Given the description of an element on the screen output the (x, y) to click on. 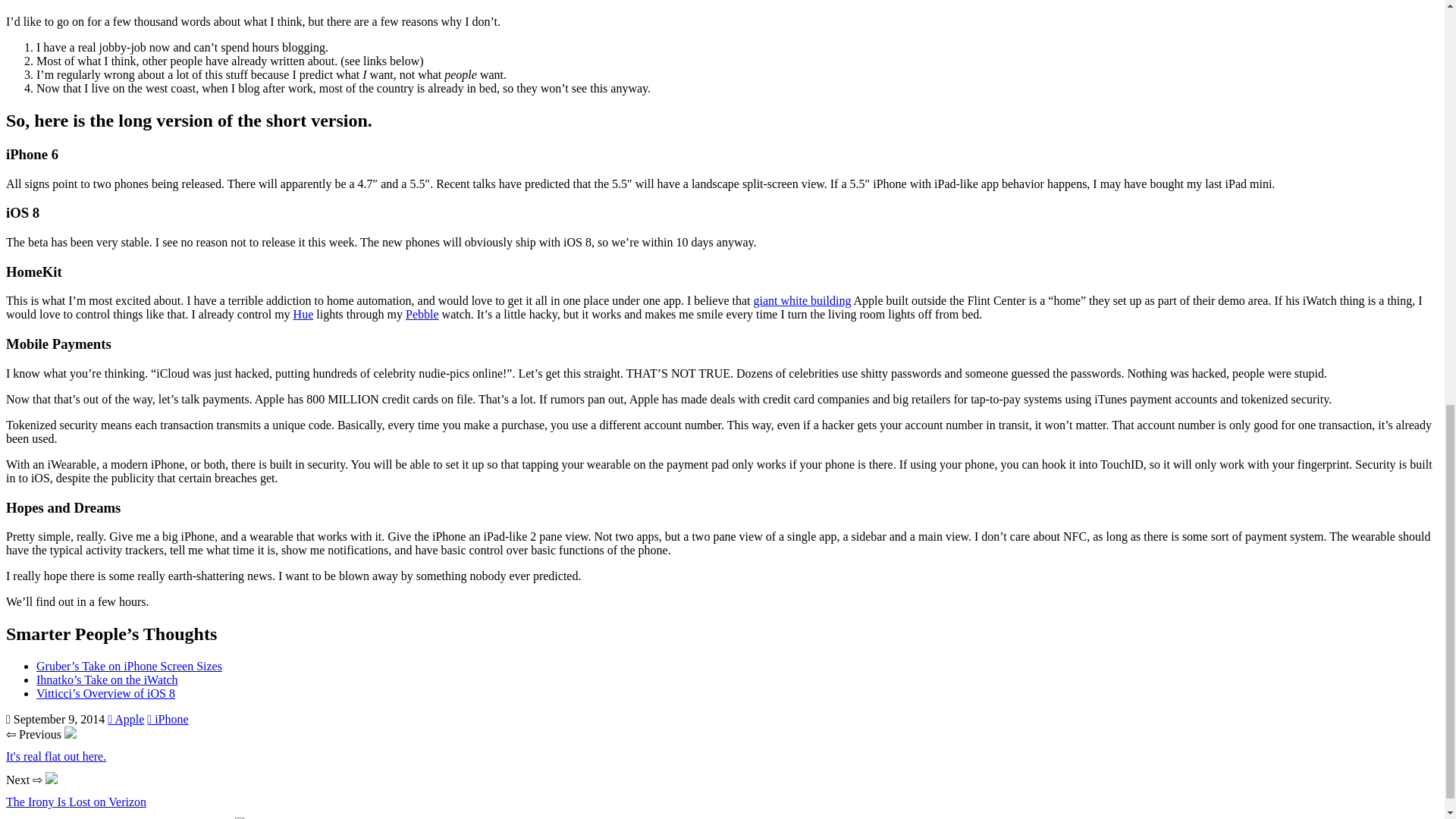
Hue (304, 314)
Pebble (422, 314)
giant white building (802, 300)
